Given the description of an element on the screen output the (x, y) to click on. 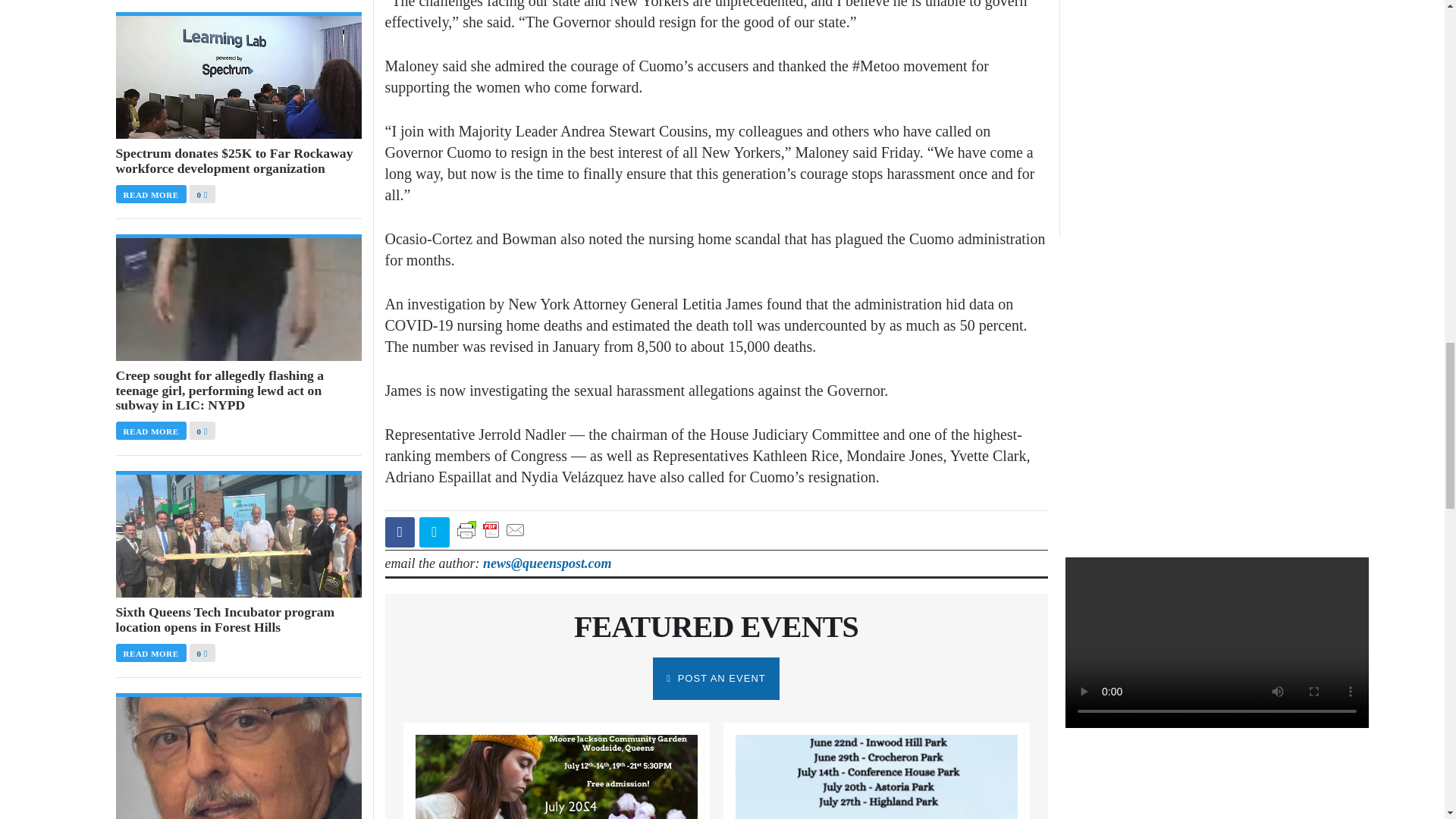
FEATURED EVENTS (716, 626)
POST AN EVENT (715, 678)
